Given the description of an element on the screen output the (x, y) to click on. 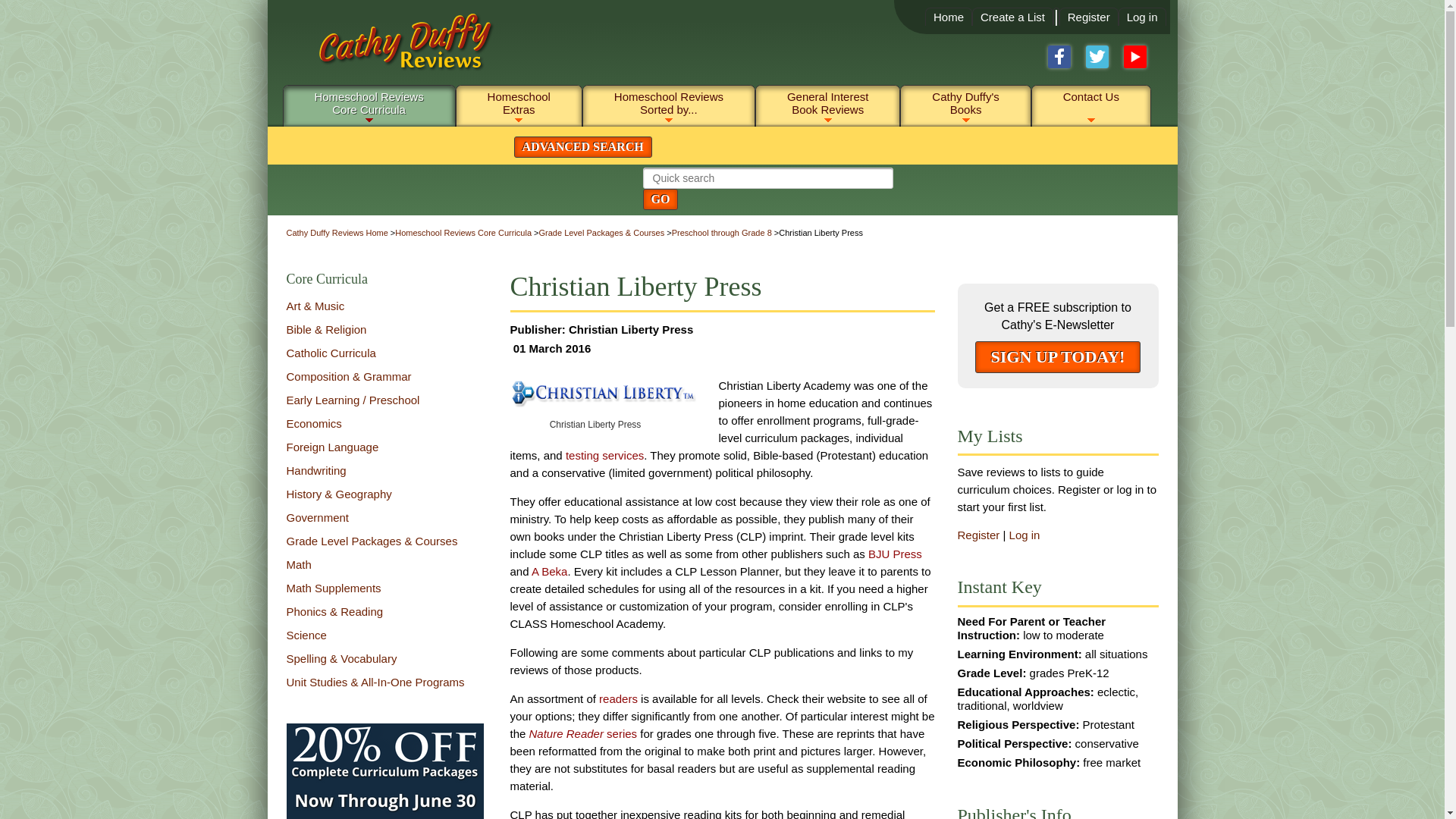
Log in (1141, 16)
Register (1088, 16)
My Fathers World (384, 797)
Cathy Duffy Homeschool Curriculum Reviews (393, 48)
Published by  (368, 101)
Facebook (601, 329)
Create a List (1059, 56)
YouTube (1012, 16)
Sign Up today! (1135, 56)
